Given the description of an element on the screen output the (x, y) to click on. 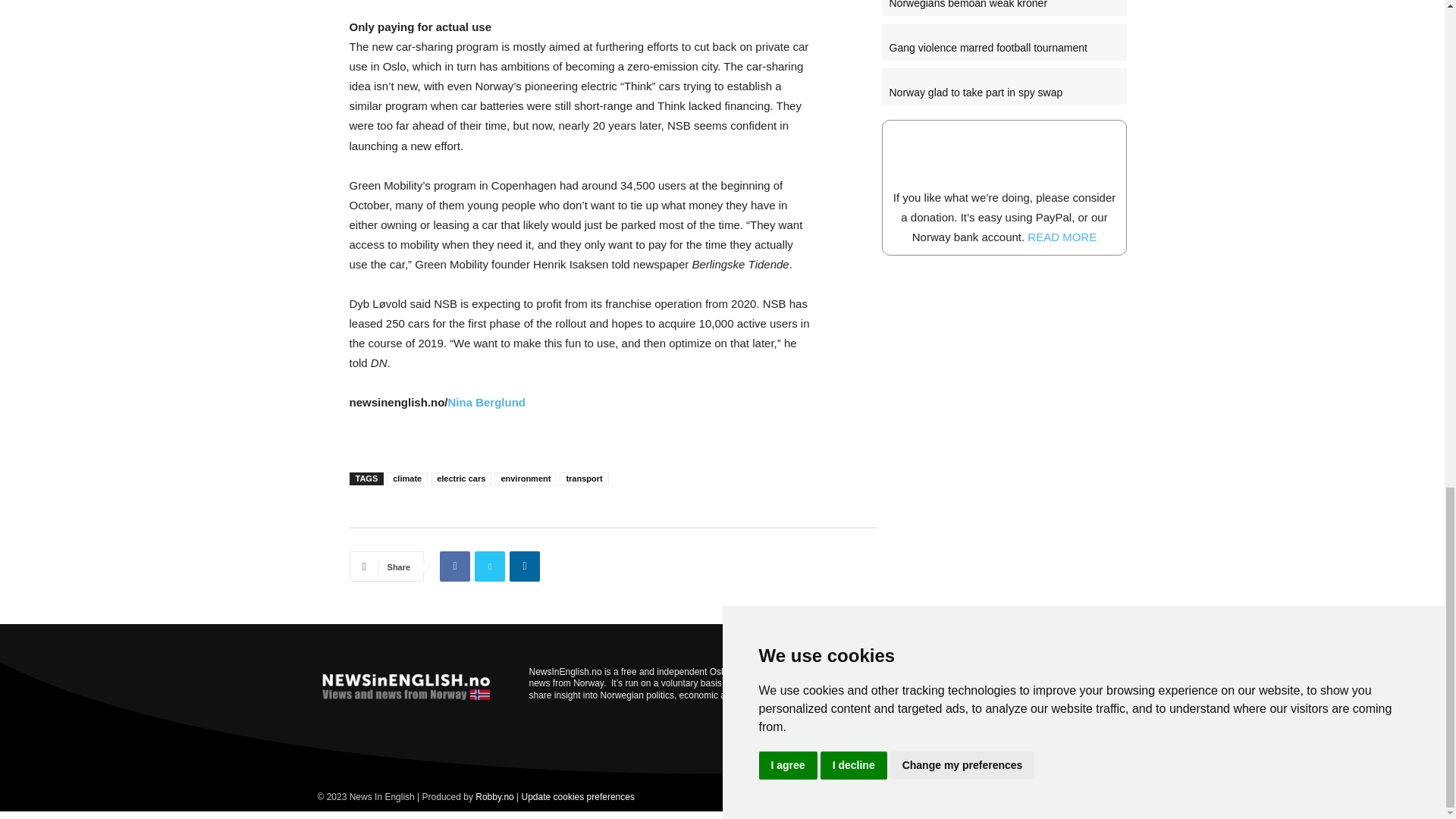
Linkedin (524, 566)
Twitter (489, 566)
Facebook (454, 566)
